Given the description of an element on the screen output the (x, y) to click on. 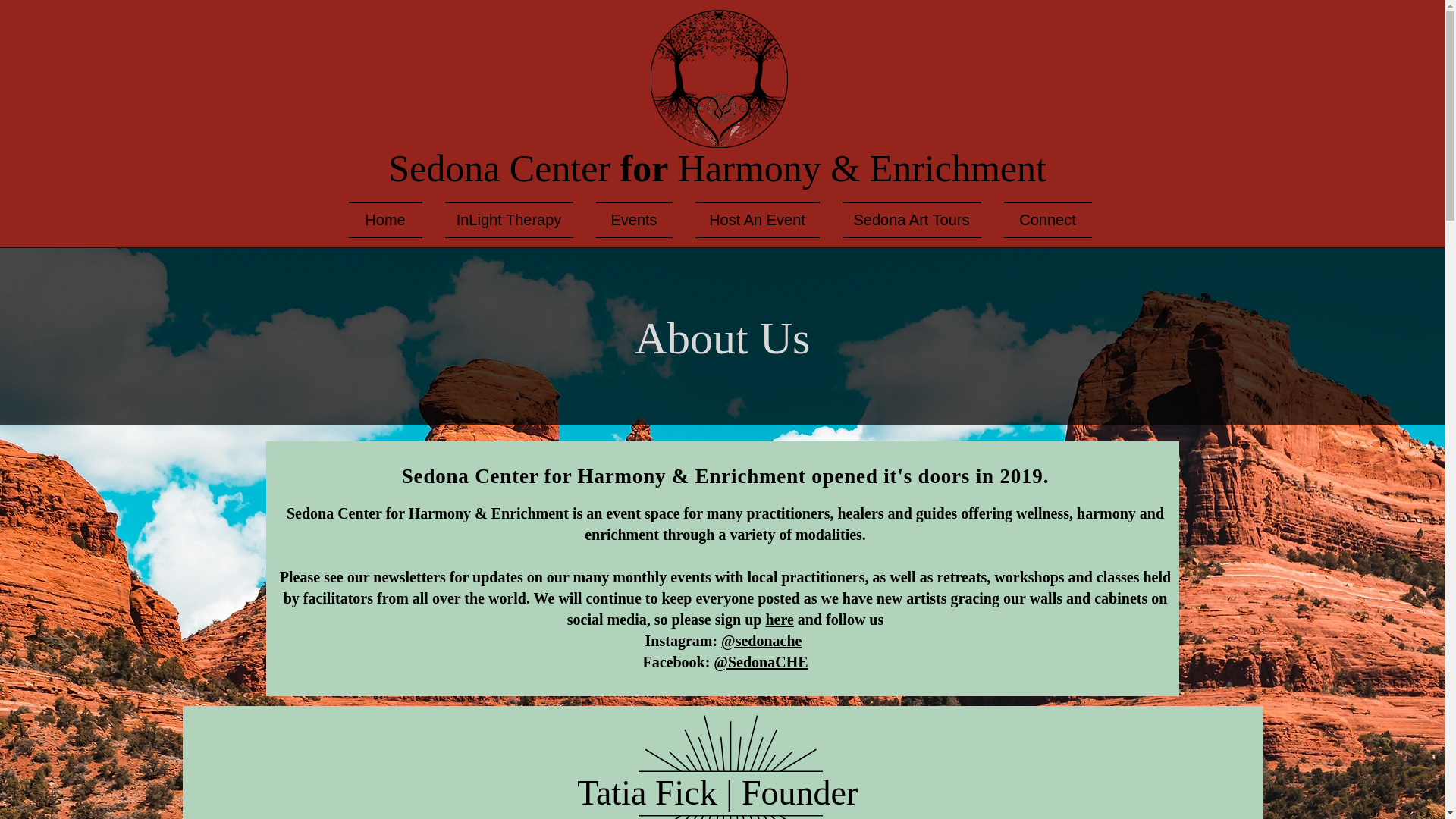
Connect (1040, 219)
Host An Event (757, 219)
here (779, 619)
Events (632, 219)
Home (391, 219)
Sedona Art Tours (911, 219)
InLight Therapy (509, 219)
